Given the description of an element on the screen output the (x, y) to click on. 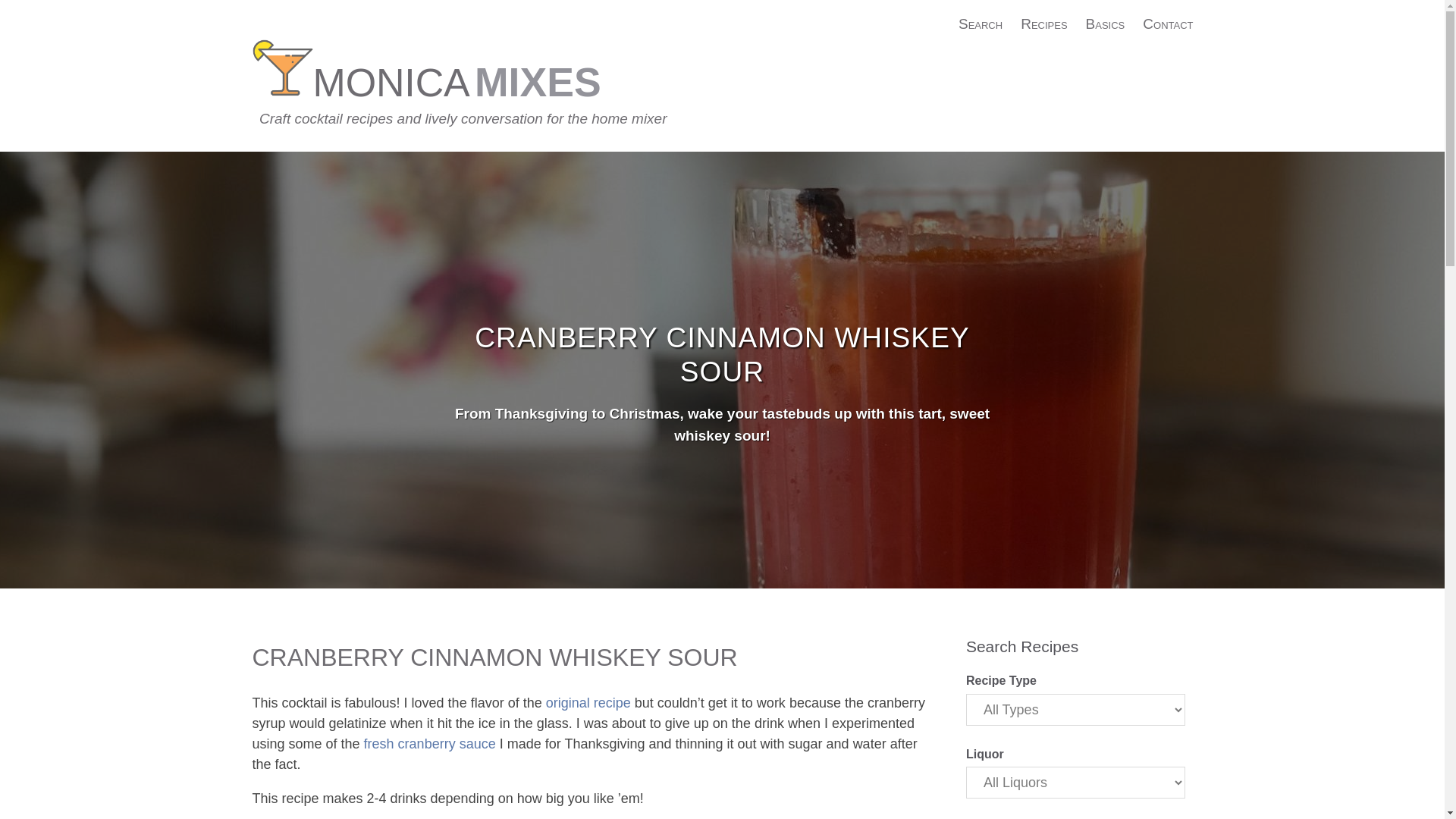
MONICA MIXES (456, 82)
Contact (1167, 24)
fresh cranberry sauce (430, 743)
Search (980, 24)
Basics (1105, 24)
Recipes (1043, 24)
original recipe (588, 702)
